Given the description of an element on the screen output the (x, y) to click on. 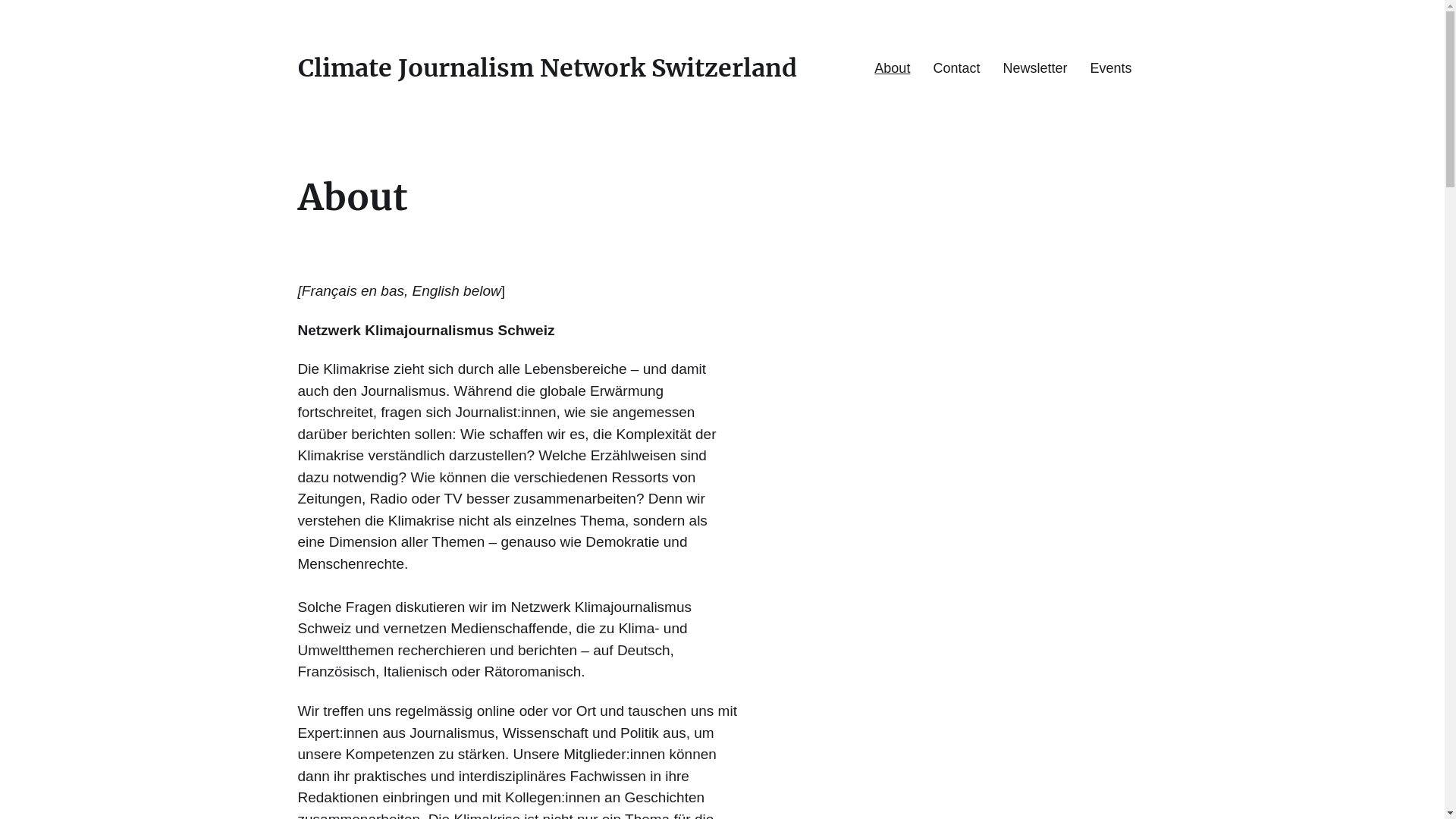
Newsletter Element type: text (1034, 68)
Climate Journalism Network Switzerland Element type: text (546, 68)
About Element type: text (892, 68)
Events Element type: text (1110, 68)
Contact Element type: text (955, 68)
